Given the description of an element on the screen output the (x, y) to click on. 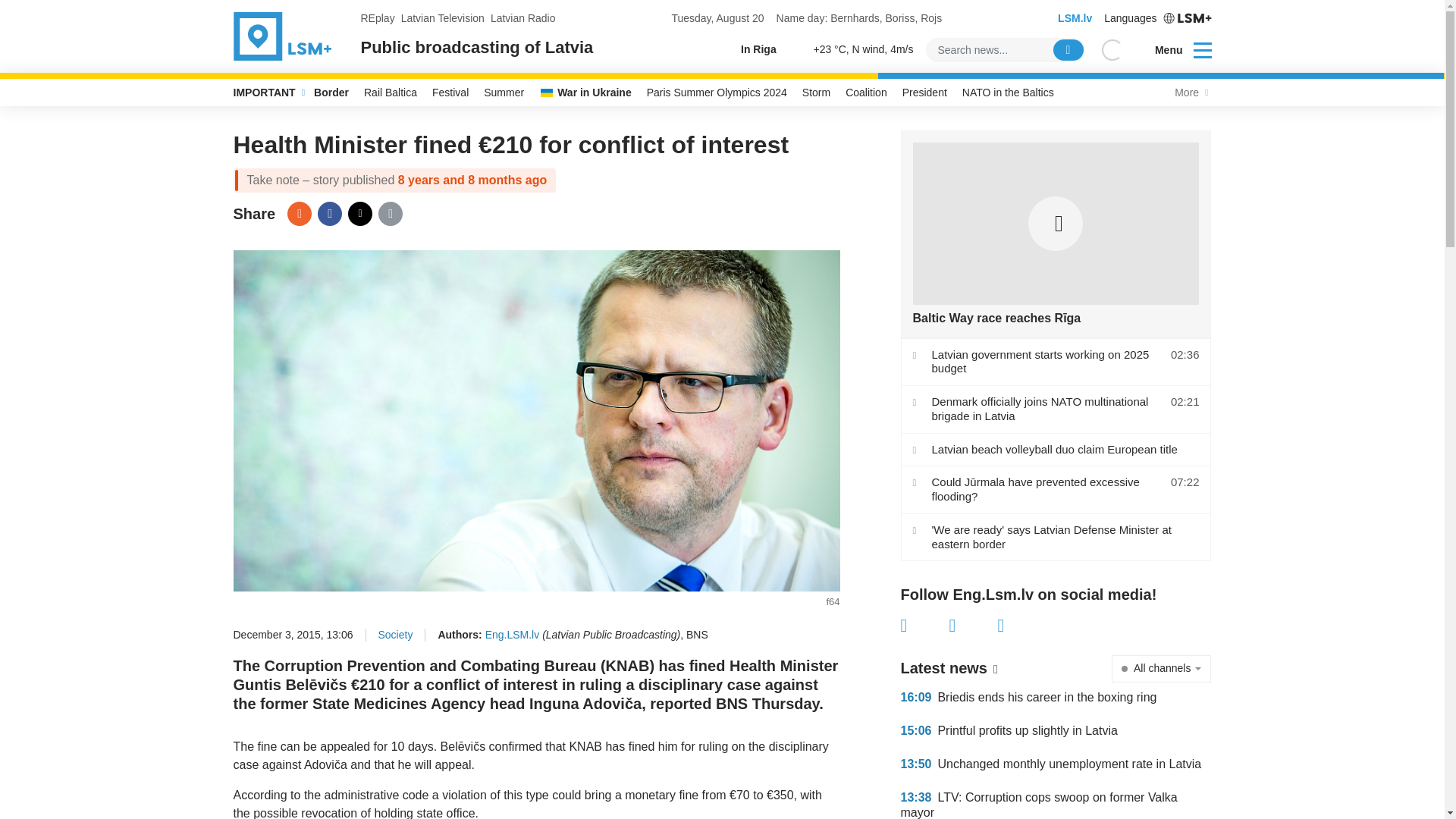
Menu (1173, 50)
Border (330, 92)
President (925, 92)
REplay (377, 18)
Facebook (925, 625)
Summer (503, 92)
Paris Summer Olympics 2024 (716, 92)
Coalition (865, 92)
Languages (1157, 18)
Facebook (329, 213)
